Given the description of an element on the screen output the (x, y) to click on. 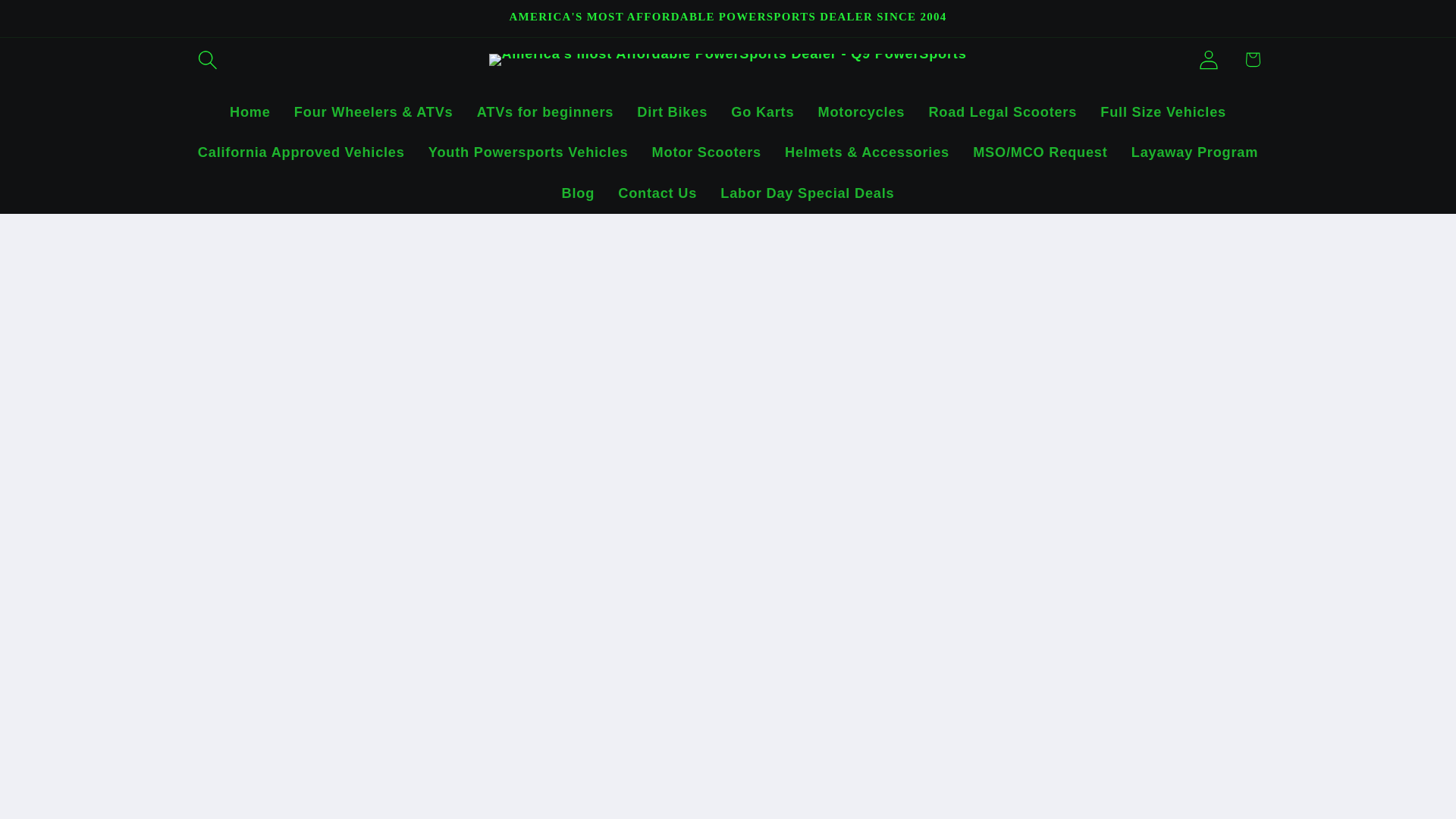
ATVs for beginners (545, 111)
Skip to content (59, 22)
Home (249, 111)
Go Karts (762, 111)
Dirt Bikes (672, 111)
Road Legal Scooters (1003, 111)
Motorcycles (861, 111)
